Given the description of an element on the screen output the (x, y) to click on. 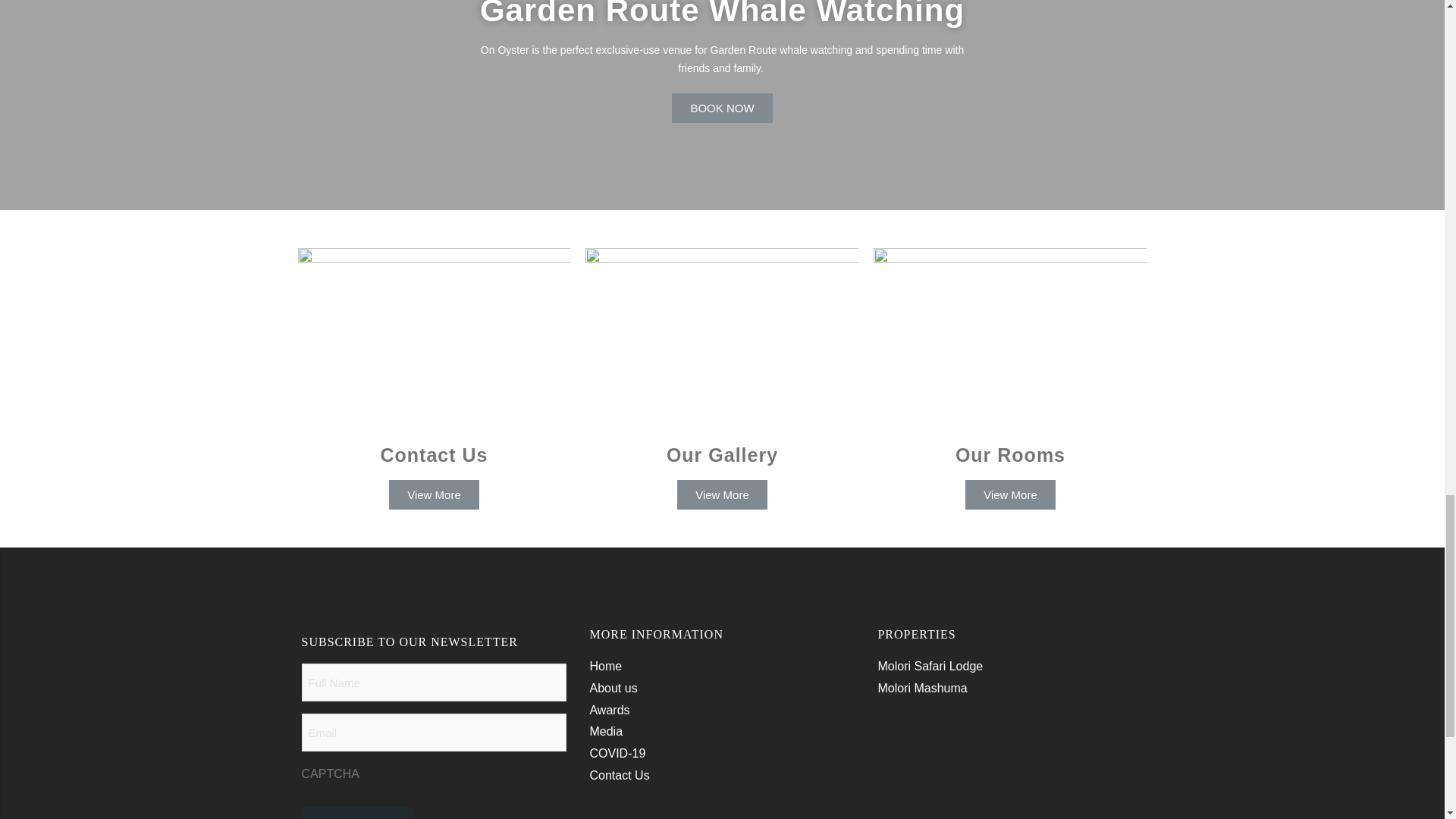
View More (1010, 493)
Contact Us (619, 775)
Subscribe (357, 812)
View More (722, 493)
Molori Mashuma (921, 687)
COVID-19 (617, 753)
Subscribe (357, 812)
Media (606, 730)
Molori Safari Lodge (929, 666)
About us (613, 687)
